Given the description of an element on the screen output the (x, y) to click on. 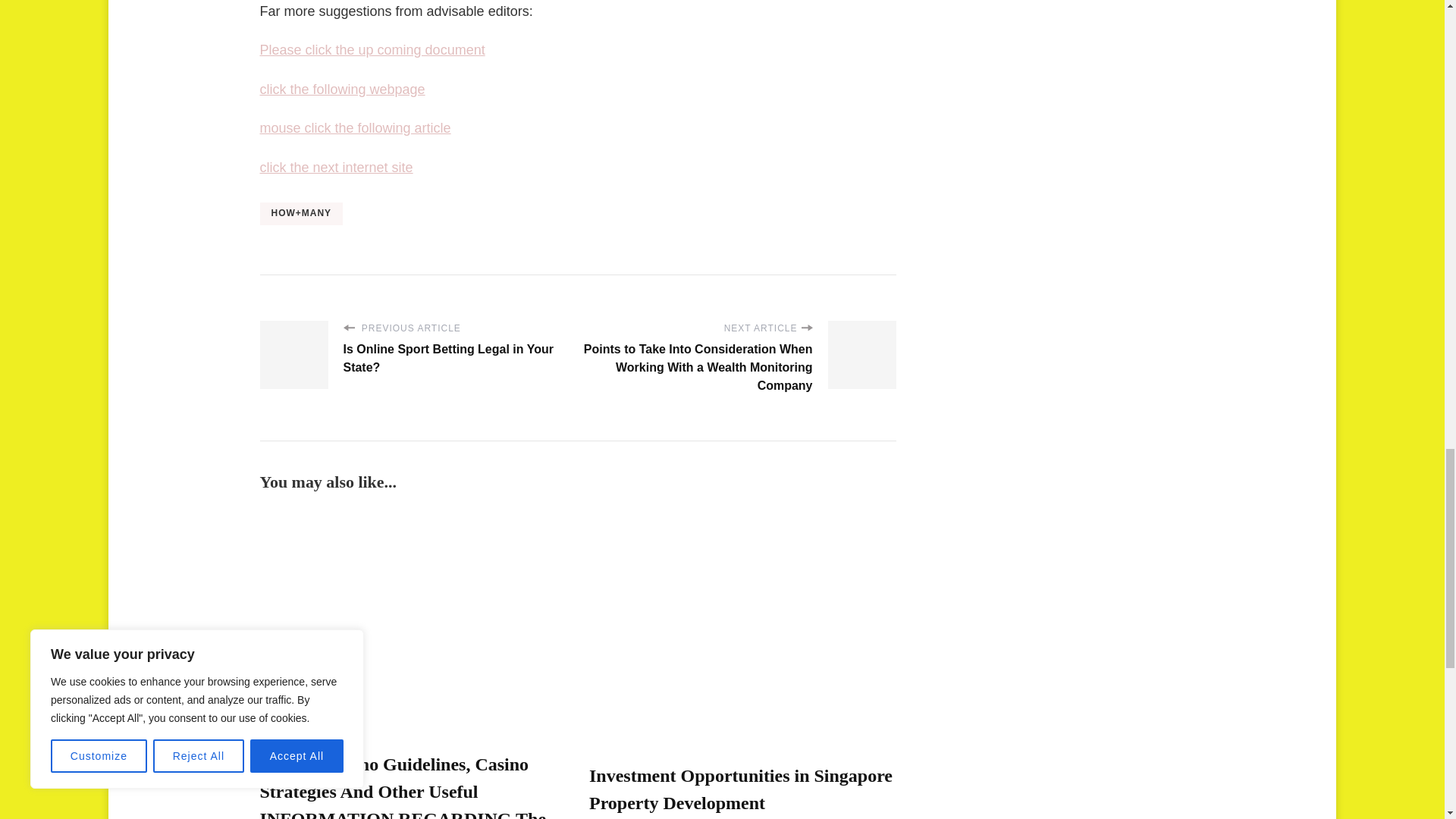
click the next internet site (335, 167)
mouse click the following article (354, 127)
click the following webpage (342, 89)
Please click the up coming document (371, 49)
